Given the description of an element on the screen output the (x, y) to click on. 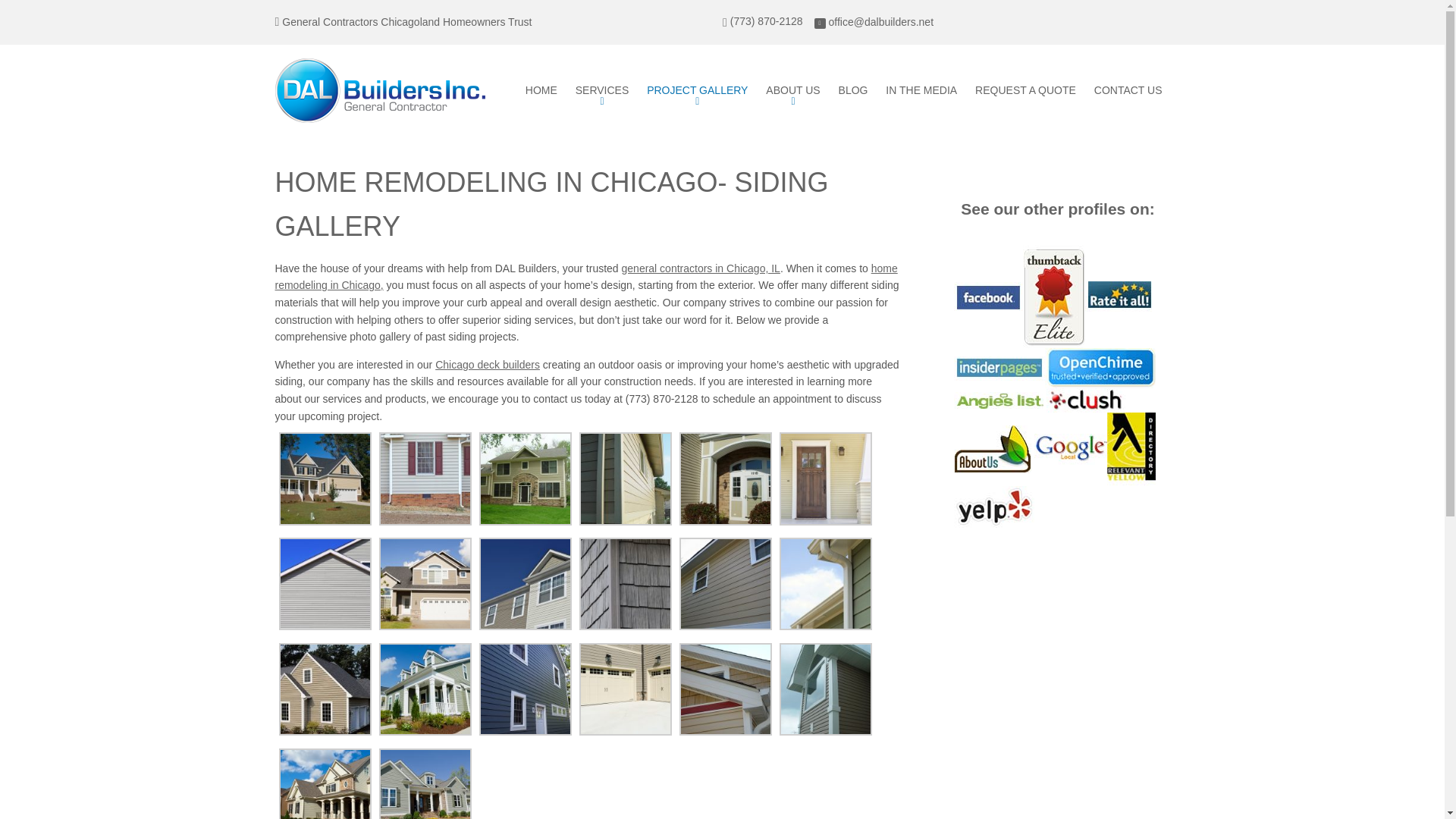
HOME (541, 90)
IN THE MEDIA (920, 90)
SERVICES (602, 90)
CONTACT US (1128, 90)
BLOG (853, 90)
PROJECT GALLERY (697, 90)
ABOUT US (792, 90)
REQUEST A QUOTE (1025, 90)
general contractors in Chicago, IL (700, 268)
